Given the description of an element on the screen output the (x, y) to click on. 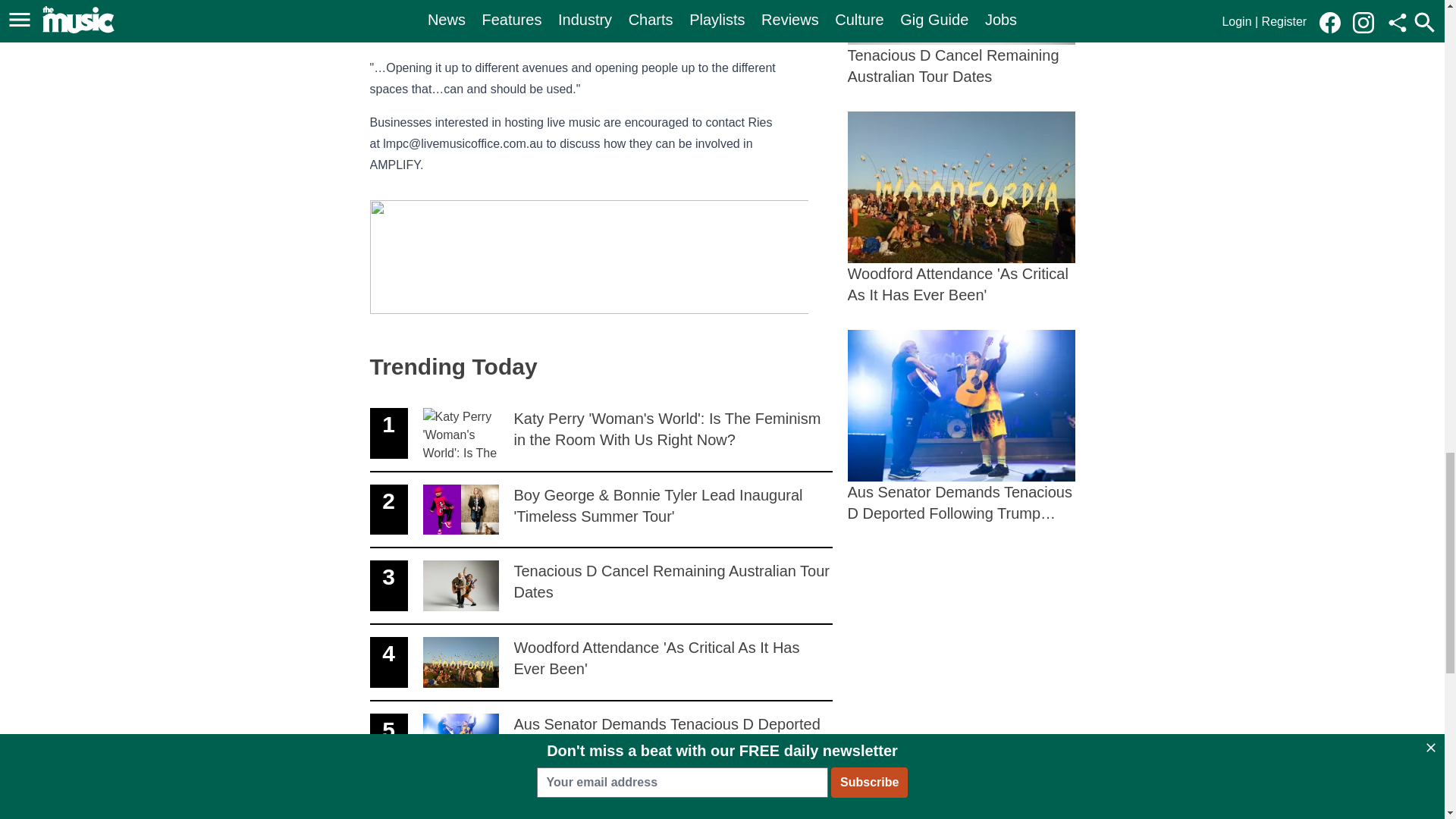
Tenacious D Cancel Remaining Australian Tour Dates (600, 585)
Woodford Attendance 'As Critical As It Has Ever Been' (961, 43)
